Given the description of an element on the screen output the (x, y) to click on. 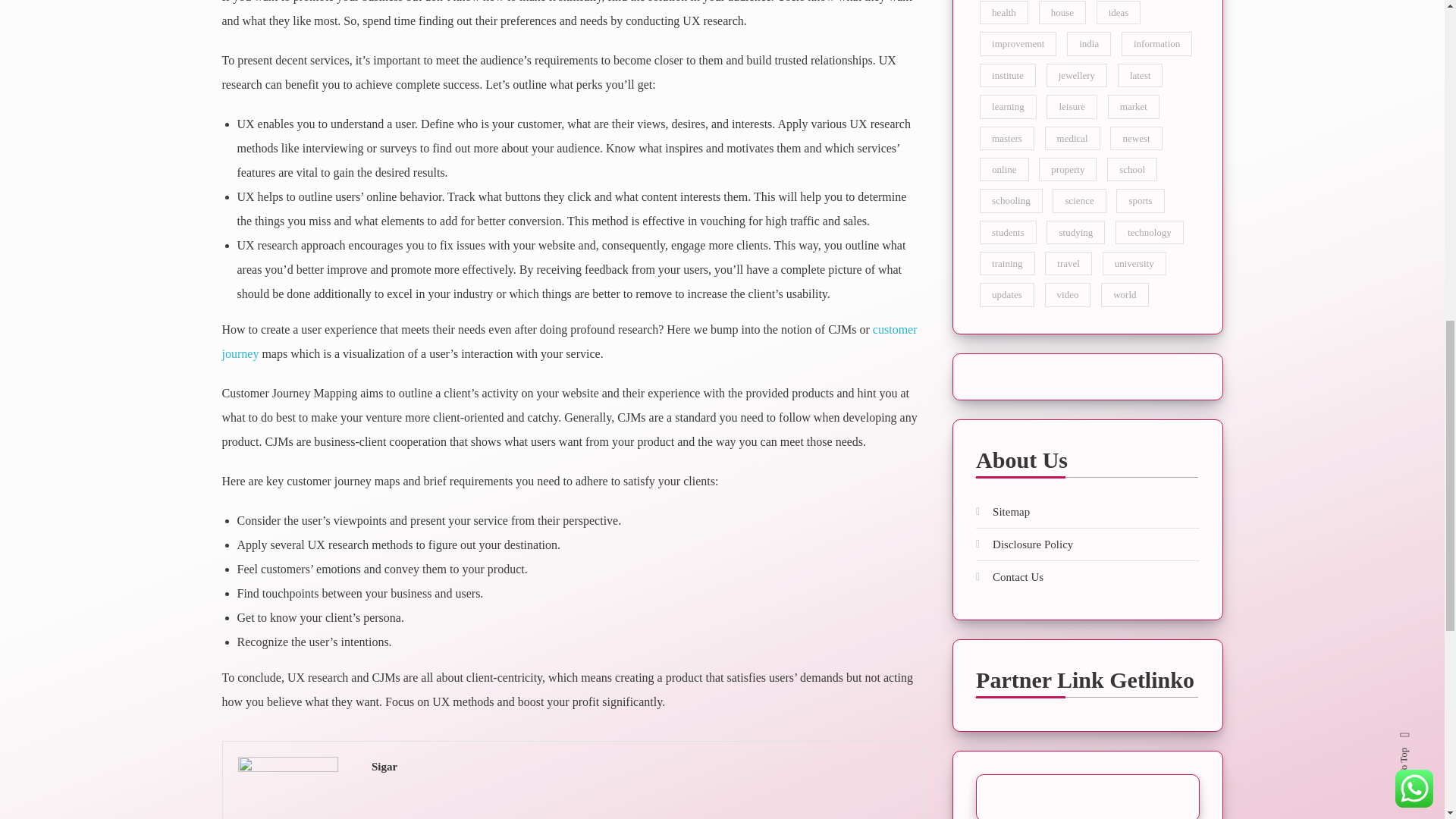
Sigar (639, 766)
customer journey (569, 341)
